Given the description of an element on the screen output the (x, y) to click on. 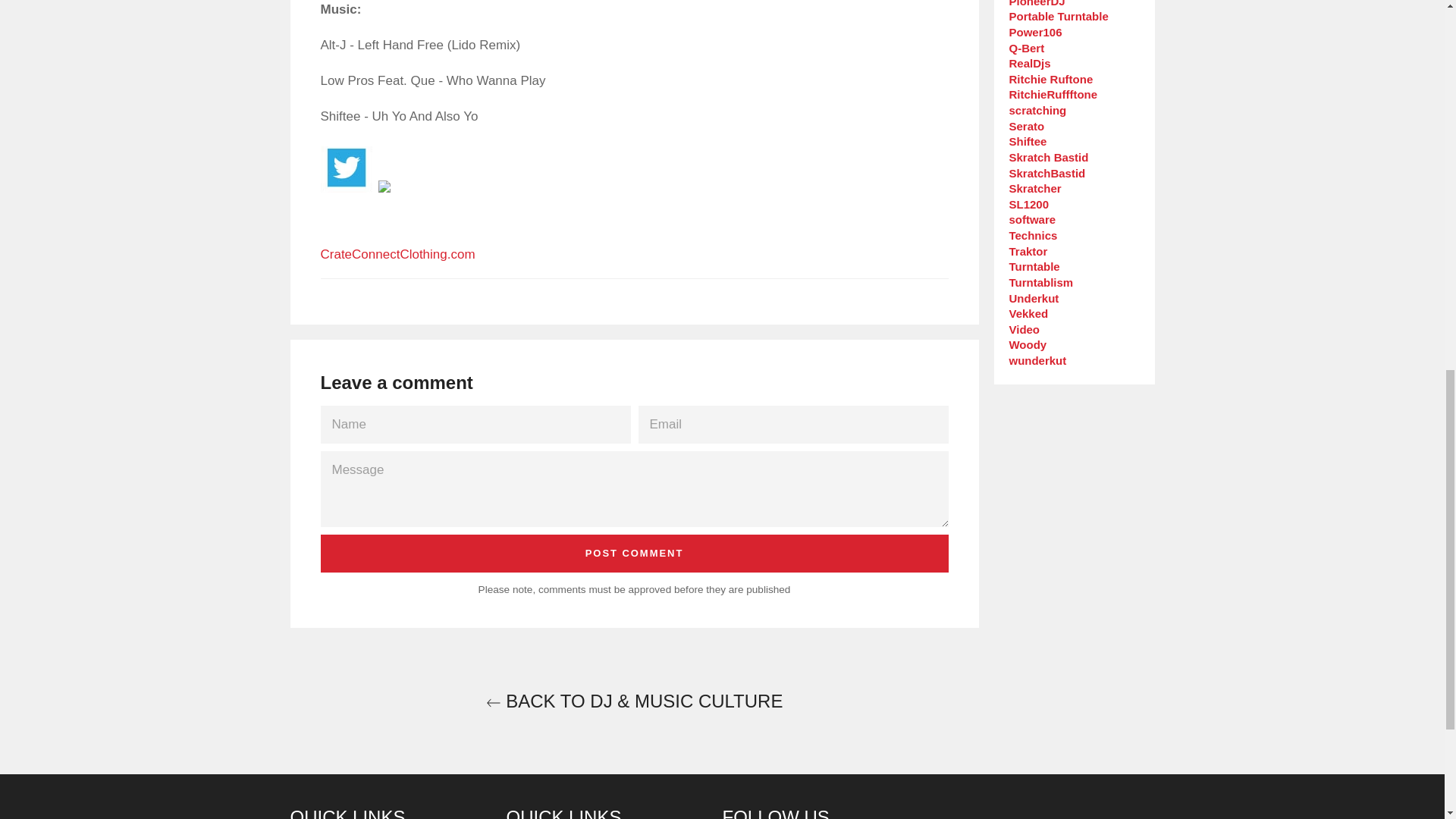
Post comment (633, 553)
